Given the description of an element on the screen output the (x, y) to click on. 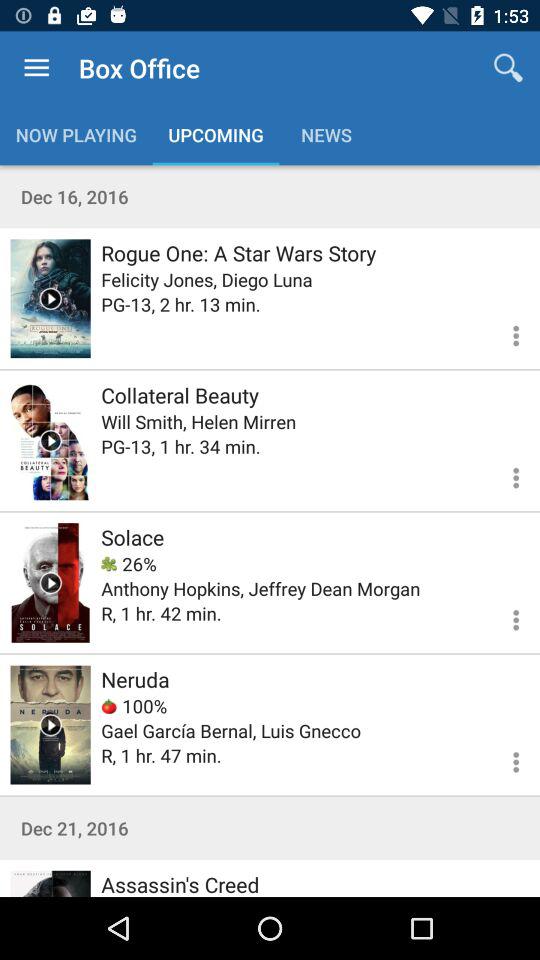
show more (503, 475)
